Given the description of an element on the screen output the (x, y) to click on. 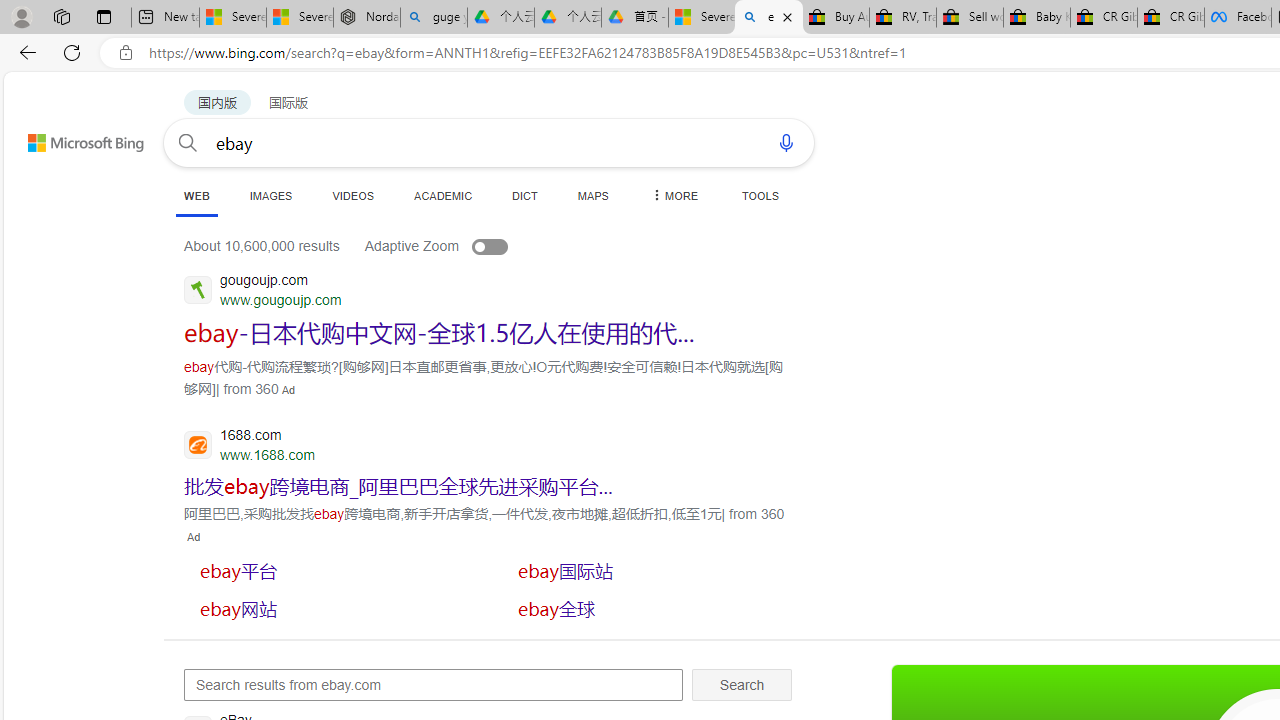
Adaptive Zoom (456, 245)
Back to Bing search (73, 138)
MAPS (592, 195)
SERP,5714 (333, 608)
MAPS (592, 195)
Facebook (1237, 17)
SERP,5713 (651, 570)
